Given the description of an element on the screen output the (x, y) to click on. 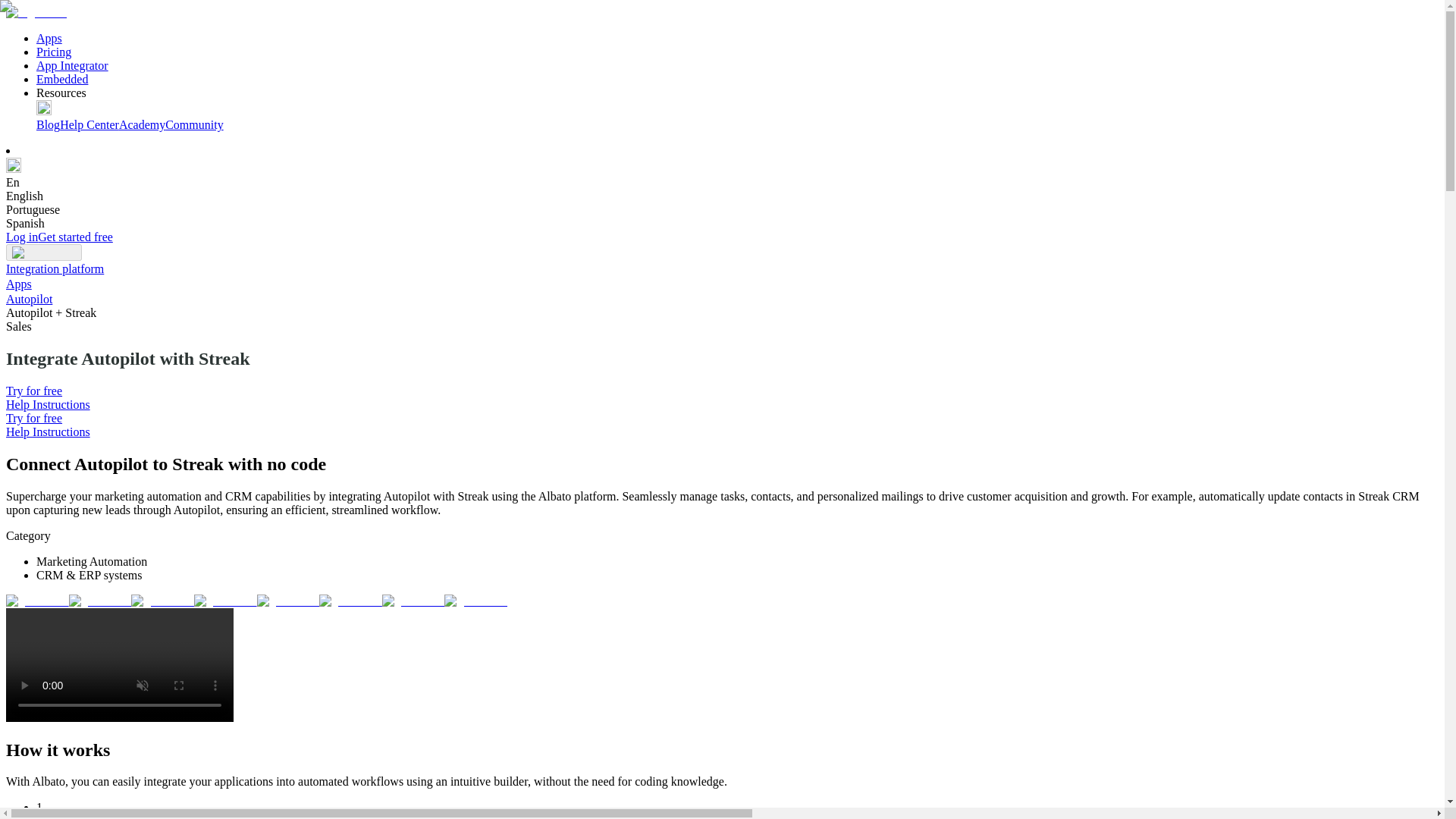
Embedded (61, 78)
Apps (18, 283)
Log in (21, 236)
Blog (47, 124)
Community (193, 124)
button (43, 252)
Pricing (53, 51)
Help Instructions (47, 431)
Apps (49, 38)
Help Center (89, 124)
Academy (142, 124)
Integration platform (54, 268)
App Integrator (71, 65)
Try for free (33, 418)
Autopilot (28, 298)
